Given the description of an element on the screen output the (x, y) to click on. 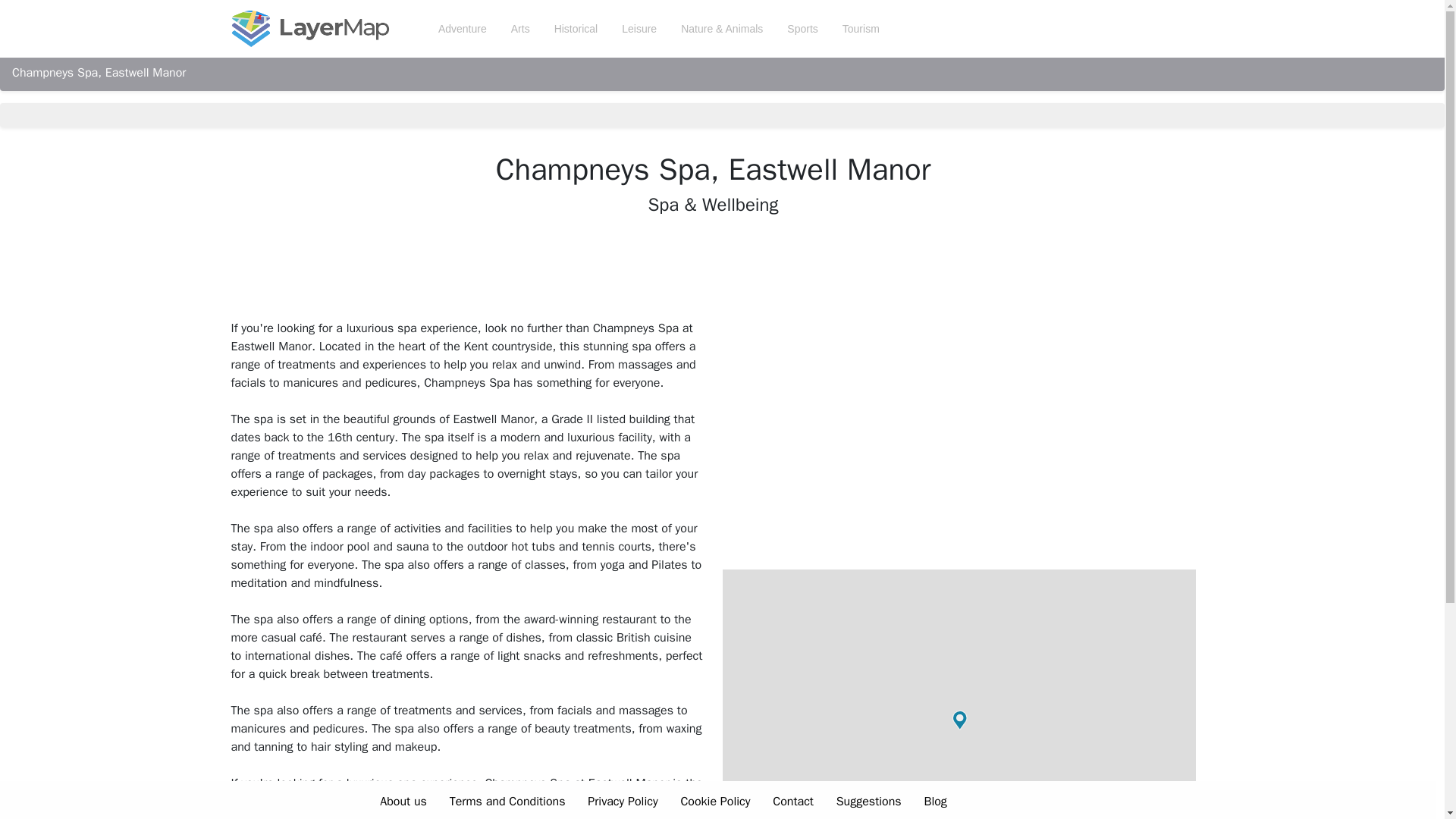
Arts (520, 29)
Leisure (639, 29)
Historical (575, 29)
Adventure (462, 29)
